Given the description of an element on the screen output the (x, y) to click on. 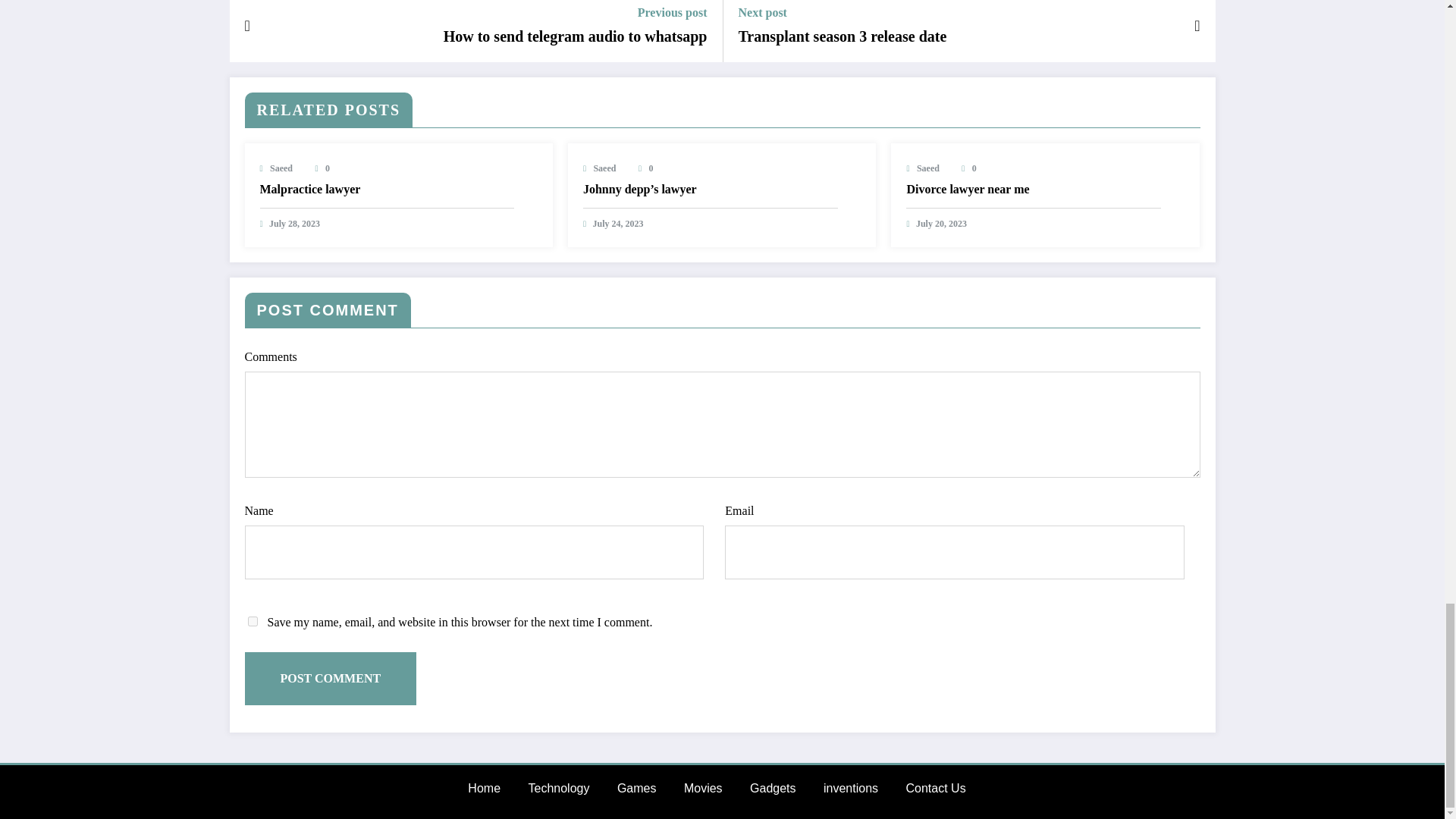
Transplant season 3 release date (842, 35)
yes (252, 621)
Post Comment (330, 678)
Previous post (575, 11)
Next post (842, 11)
How to send telegram audio to whatsapp (575, 35)
